Given the description of an element on the screen output the (x, y) to click on. 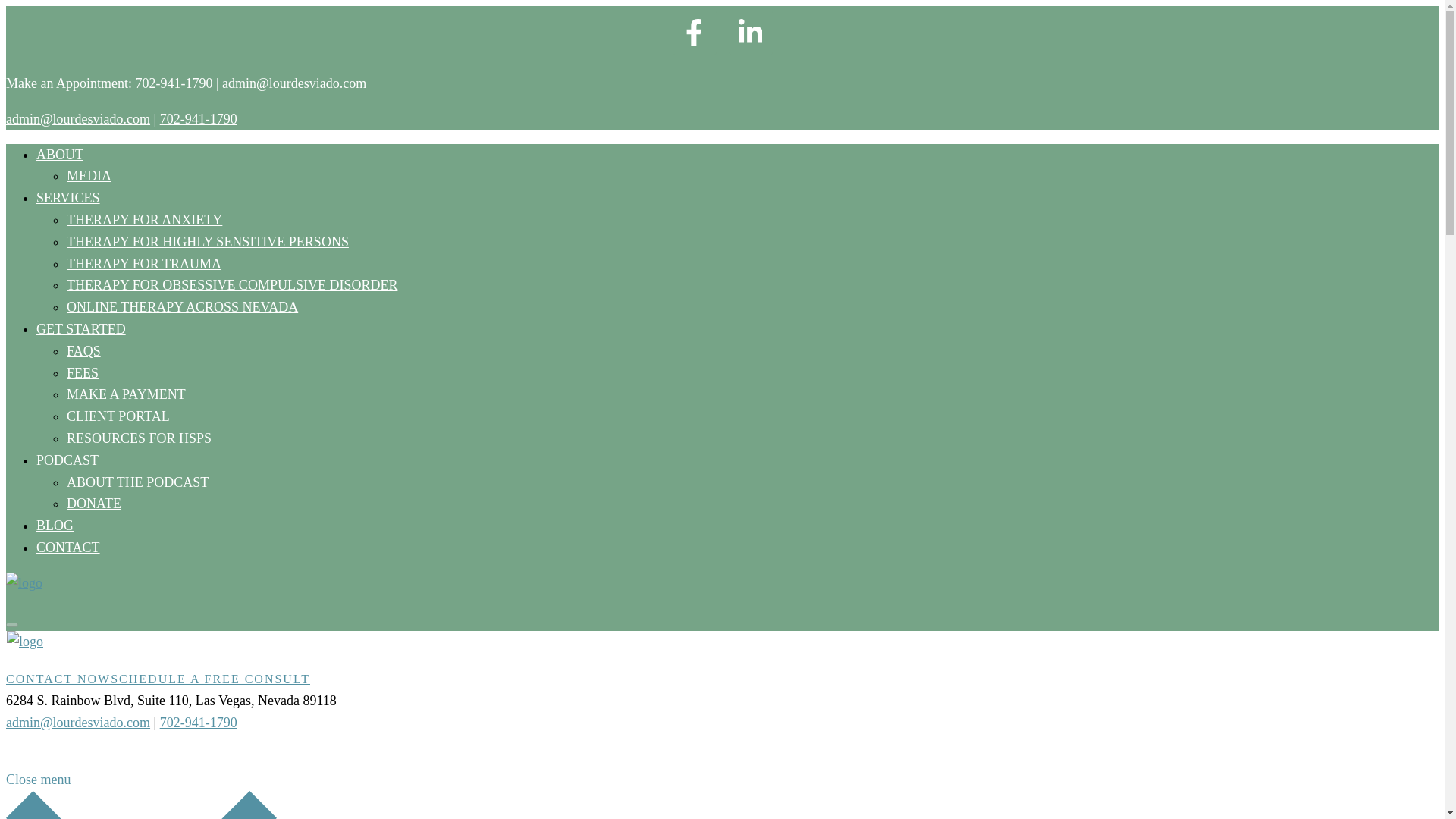
CONTACT (68, 547)
702-941-1790 (198, 722)
THERAPY FOR ANXIETY (144, 219)
ABOUT THE PODCAST (137, 482)
MEDIA (89, 175)
THERAPY FOR HIGHLY SENSITIVE PERSONS (207, 241)
CLIENT PORTAL (118, 416)
CONTACT NOW (57, 678)
FEES (82, 372)
ABOUT (59, 154)
PODCAST (67, 459)
FAQS (83, 350)
GET STARTED (80, 328)
702-941-1790 (173, 83)
DONATE (93, 503)
